Given the description of an element on the screen output the (x, y) to click on. 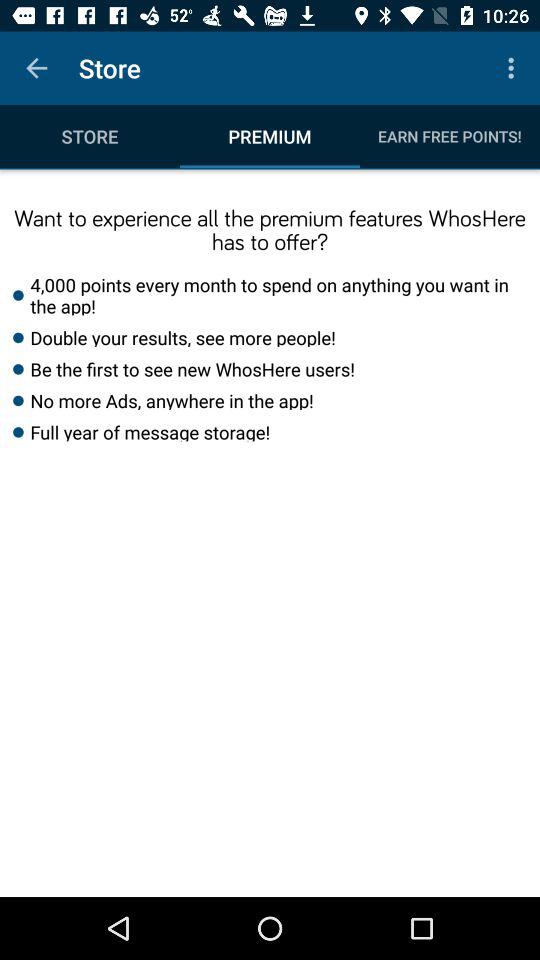
select app to the left of the store app (36, 68)
